Given the description of an element on the screen output the (x, y) to click on. 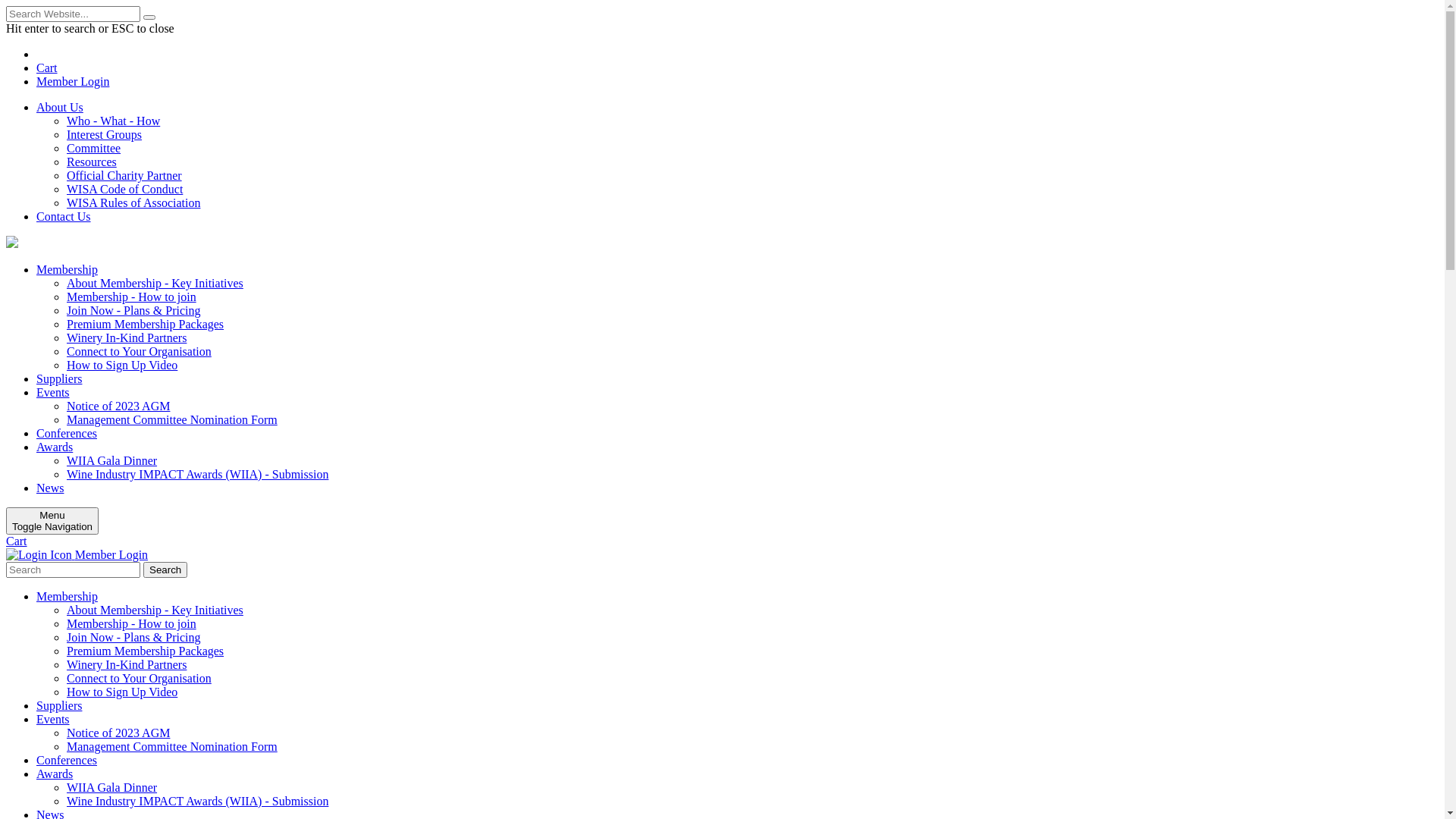
How to Sign Up Video Element type: text (121, 691)
Events Element type: text (52, 718)
Who - What - How Element type: text (113, 120)
Suppliers Element type: text (58, 705)
Management Committee Nomination Form Element type: text (171, 419)
Contact Us Element type: text (63, 216)
WIIA Gala Dinner Element type: text (111, 787)
Member Login Element type: text (76, 554)
Events Element type: text (52, 391)
Search Element type: text (165, 569)
Cart Element type: text (46, 67)
WIIA Gala Dinner Element type: text (111, 460)
Conferences Element type: text (66, 432)
About Membership - Key Initiatives Element type: text (154, 282)
Suppliers Element type: text (58, 378)
Conferences Element type: text (66, 759)
Premium Membership Packages Element type: text (144, 323)
Connect to Your Organisation Element type: text (138, 677)
Membership - How to join Element type: text (131, 296)
WISA Rules of Association Element type: text (133, 202)
Menu
Toggle Navigation Element type: text (52, 520)
How to Sign Up Video Element type: text (121, 364)
Membership Element type: text (66, 269)
About Membership - Key Initiatives Element type: text (154, 609)
Winery In-Kind Partners Element type: text (126, 337)
Official Charity Partner Element type: text (124, 175)
Winery In-Kind Partners Element type: text (126, 664)
Connect to Your Organisation Element type: text (138, 351)
News Element type: text (49, 487)
Awards Element type: text (54, 773)
Premium Membership Packages Element type: text (144, 650)
Notice of 2023 AGM Element type: text (117, 732)
Join Now - Plans & Pricing Element type: text (133, 310)
WISA Code of Conduct Element type: text (124, 188)
Notice of 2023 AGM Element type: text (117, 405)
Cart Element type: text (16, 540)
Member Login Element type: text (737, 81)
Resources Element type: text (91, 161)
Membership Element type: text (66, 595)
Committee Element type: text (93, 147)
Membership - How to join Element type: text (131, 623)
About Us Element type: text (59, 106)
Awards Element type: text (54, 446)
Wine Industry IMPACT Awards (WIIA) - Submission Element type: text (197, 800)
Wine Industry IMPACT Awards (WIIA) - Submission Element type: text (197, 473)
Join Now - Plans & Pricing Element type: text (133, 636)
Interest Groups Element type: text (103, 134)
Management Committee Nomination Form Element type: text (171, 746)
